Given the description of an element on the screen output the (x, y) to click on. 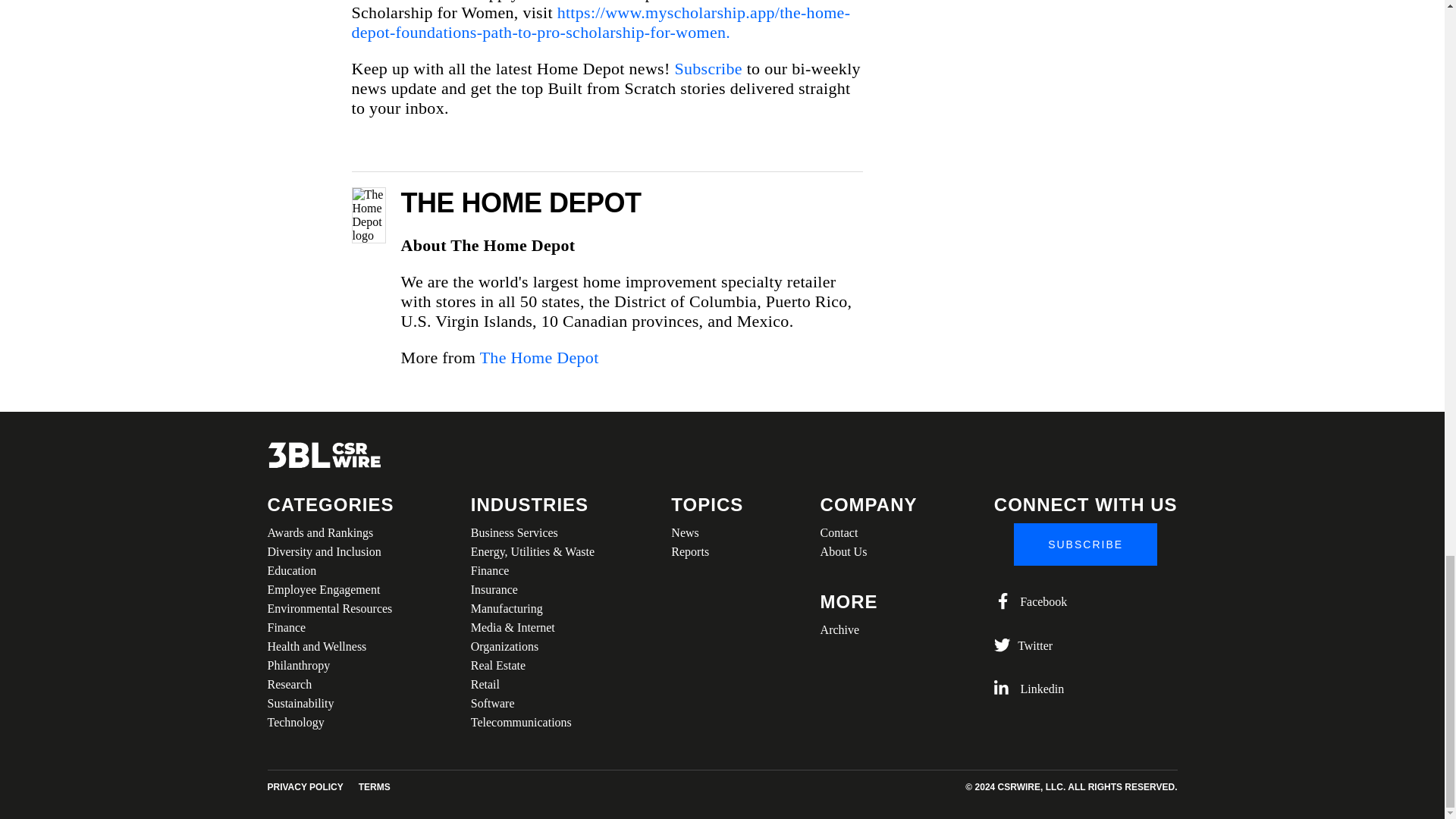
Education (329, 570)
The Home Depot (539, 357)
Diversity and Inclusion (329, 551)
Awards and Rankings (329, 532)
Subscribe (707, 67)
CATEGORIES (329, 504)
